Given the description of an element on the screen output the (x, y) to click on. 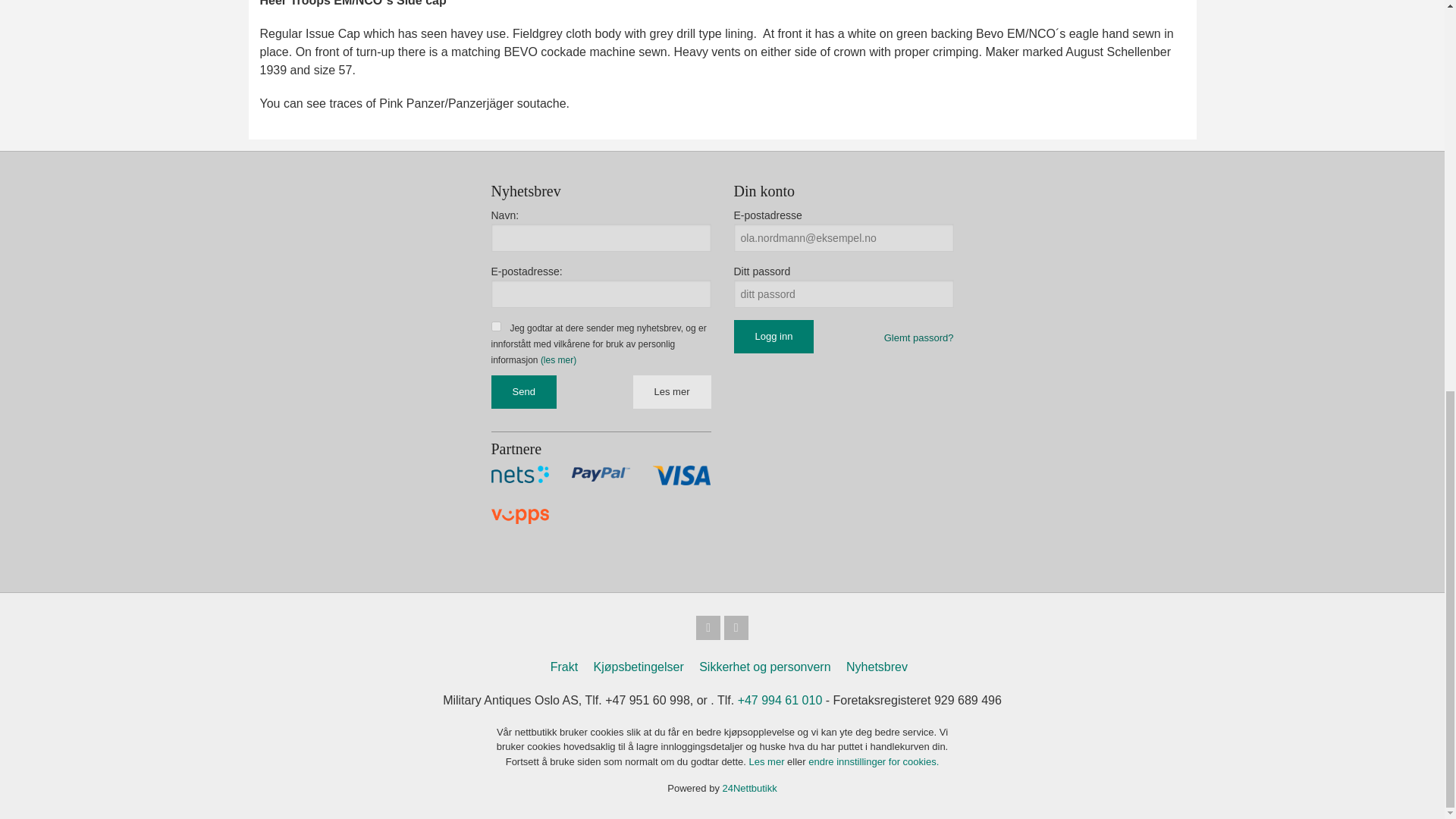
Send (524, 391)
on (496, 326)
Logg inn (773, 336)
